Given the description of an element on the screen output the (x, y) to click on. 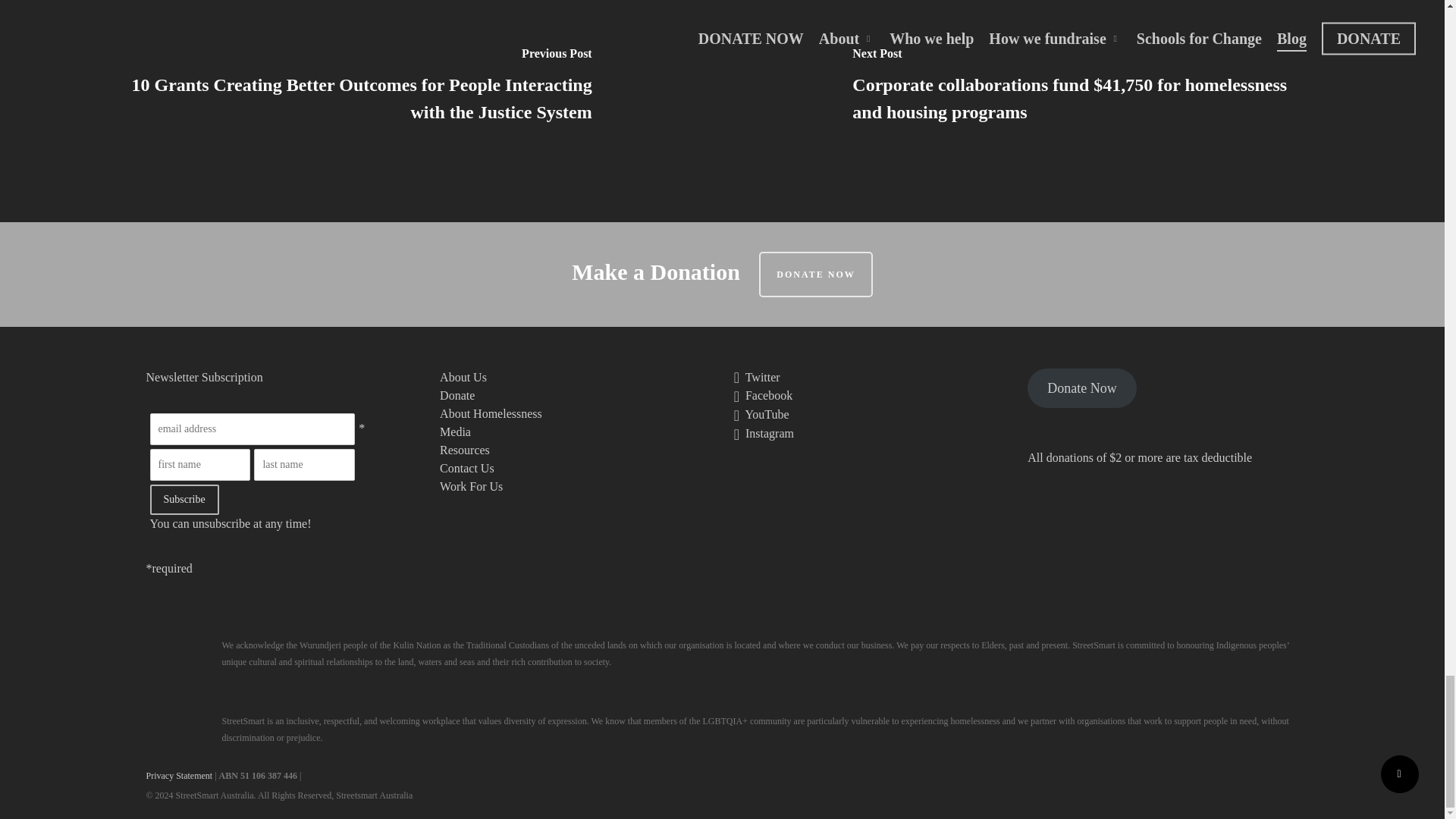
Subscribe (184, 499)
